Given the description of an element on the screen output the (x, y) to click on. 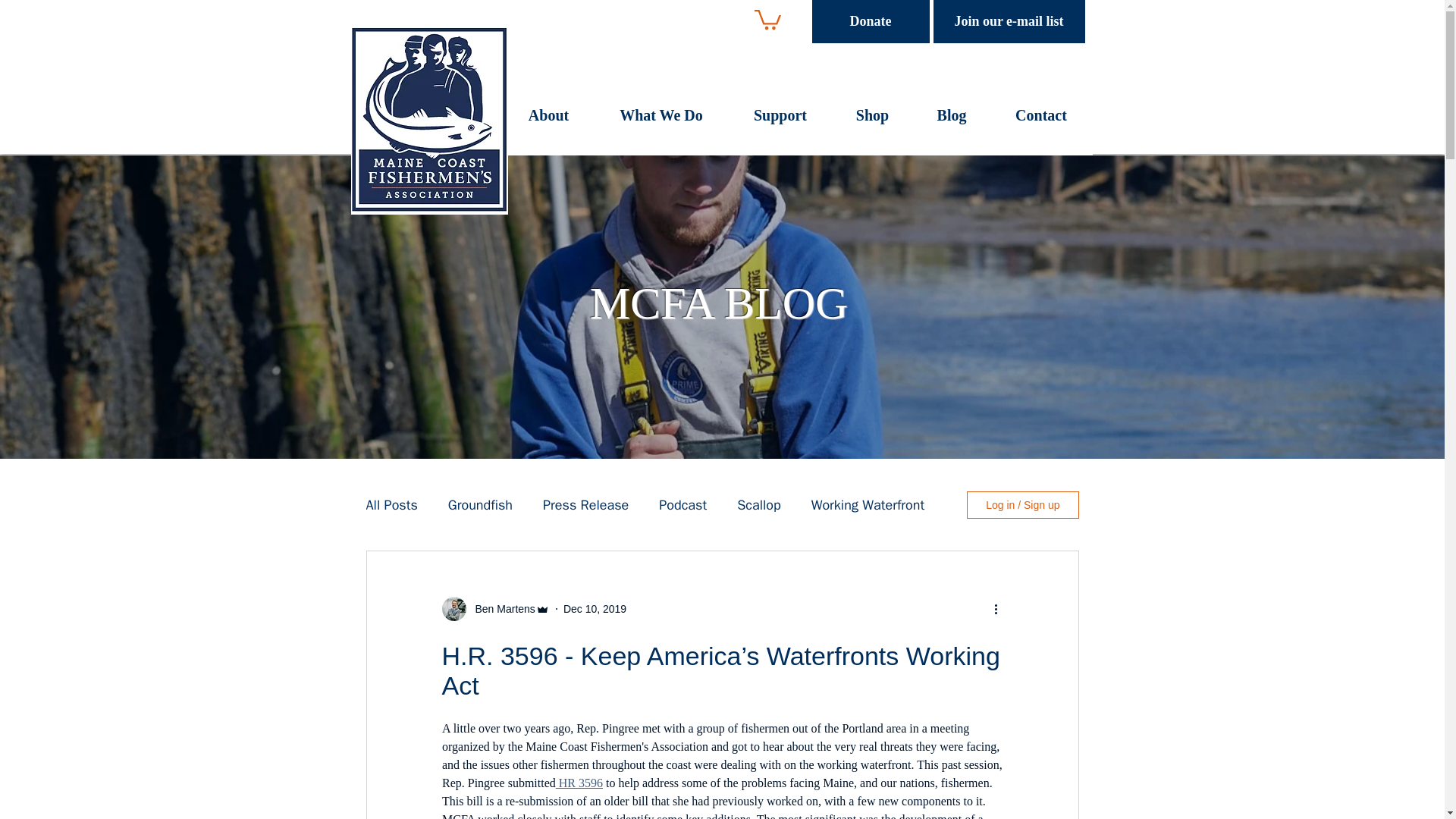
Podcast (682, 505)
Working Waterfront (867, 505)
What We Do (660, 119)
Donate (869, 21)
Support (780, 119)
About (547, 119)
All Posts (390, 505)
Contact (1041, 119)
Press Release (585, 505)
Join our e-mail list (1008, 21)
